Given the description of an element on the screen output the (x, y) to click on. 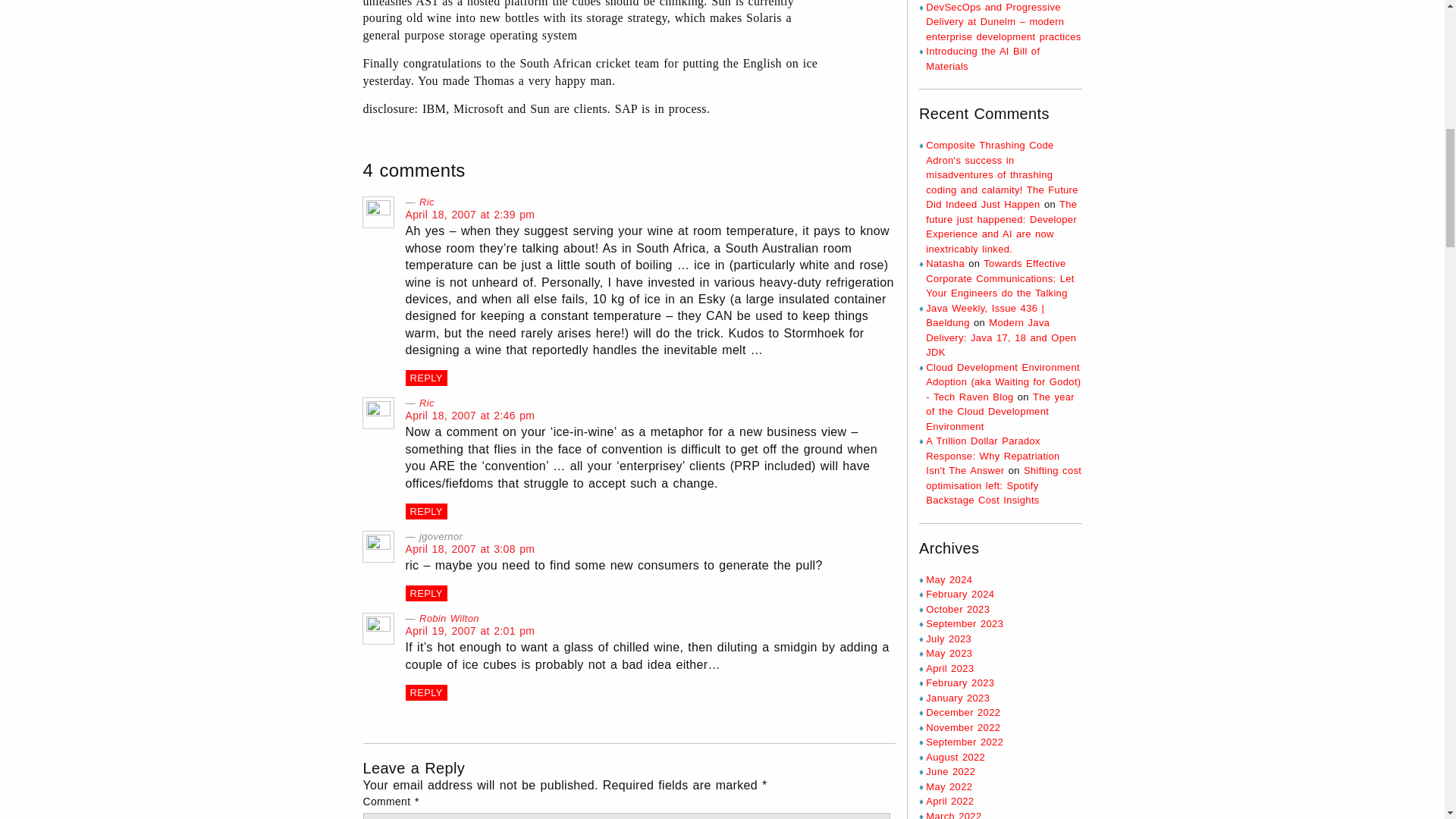
REPLY (425, 692)
REPLY (425, 377)
REPLY (425, 511)
April 18, 2007 at 2:39 pm (469, 214)
April 18, 2007 at 2:46 pm (469, 415)
Ric (426, 202)
Robin Wilton (449, 618)
April 18, 2007 at 3:08 pm (469, 548)
REPLY (425, 593)
Ric (426, 402)
April 19, 2007 at 2:01 pm (469, 630)
